Given the description of an element on the screen output the (x, y) to click on. 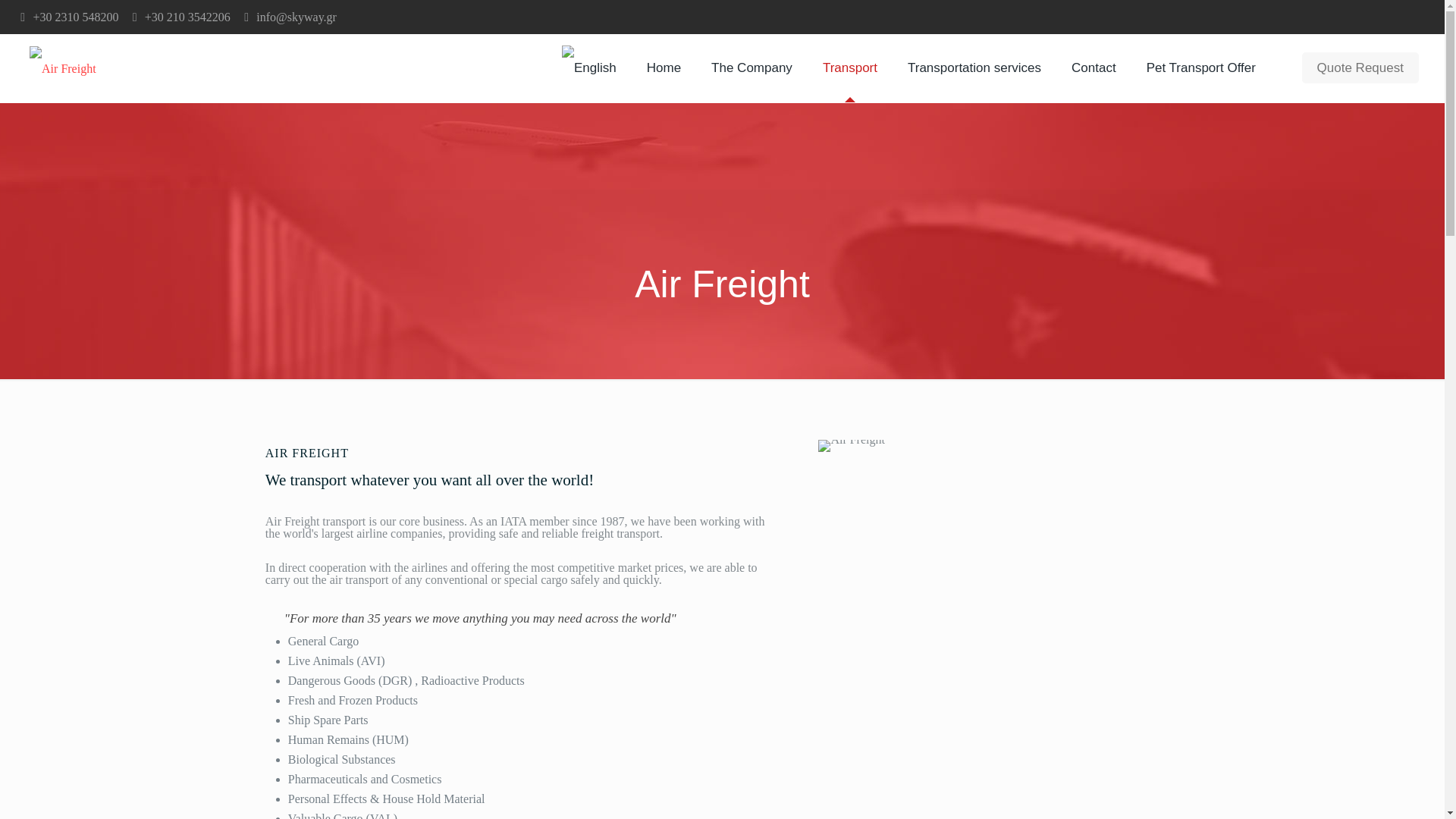
Pet Transport Offer (1201, 68)
Transport (850, 68)
Contact (1094, 68)
Home (663, 68)
Transportation services (974, 68)
The Company (751, 68)
Skyway Air Cargo Ltd (62, 68)
Quote Request (1359, 67)
